Given the description of an element on the screen output the (x, y) to click on. 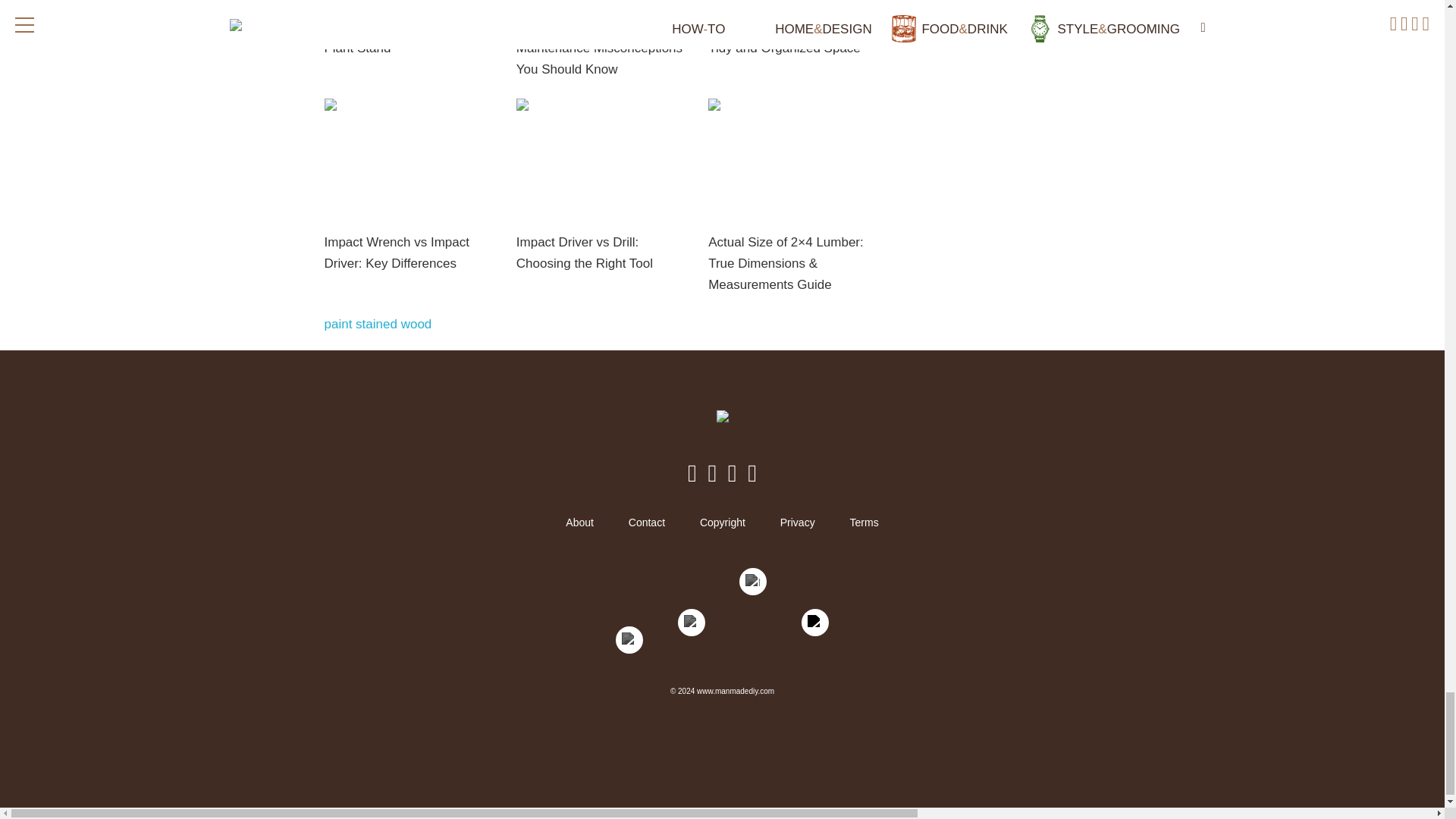
Decoist (629, 642)
